Given the description of an element on the screen output the (x, y) to click on. 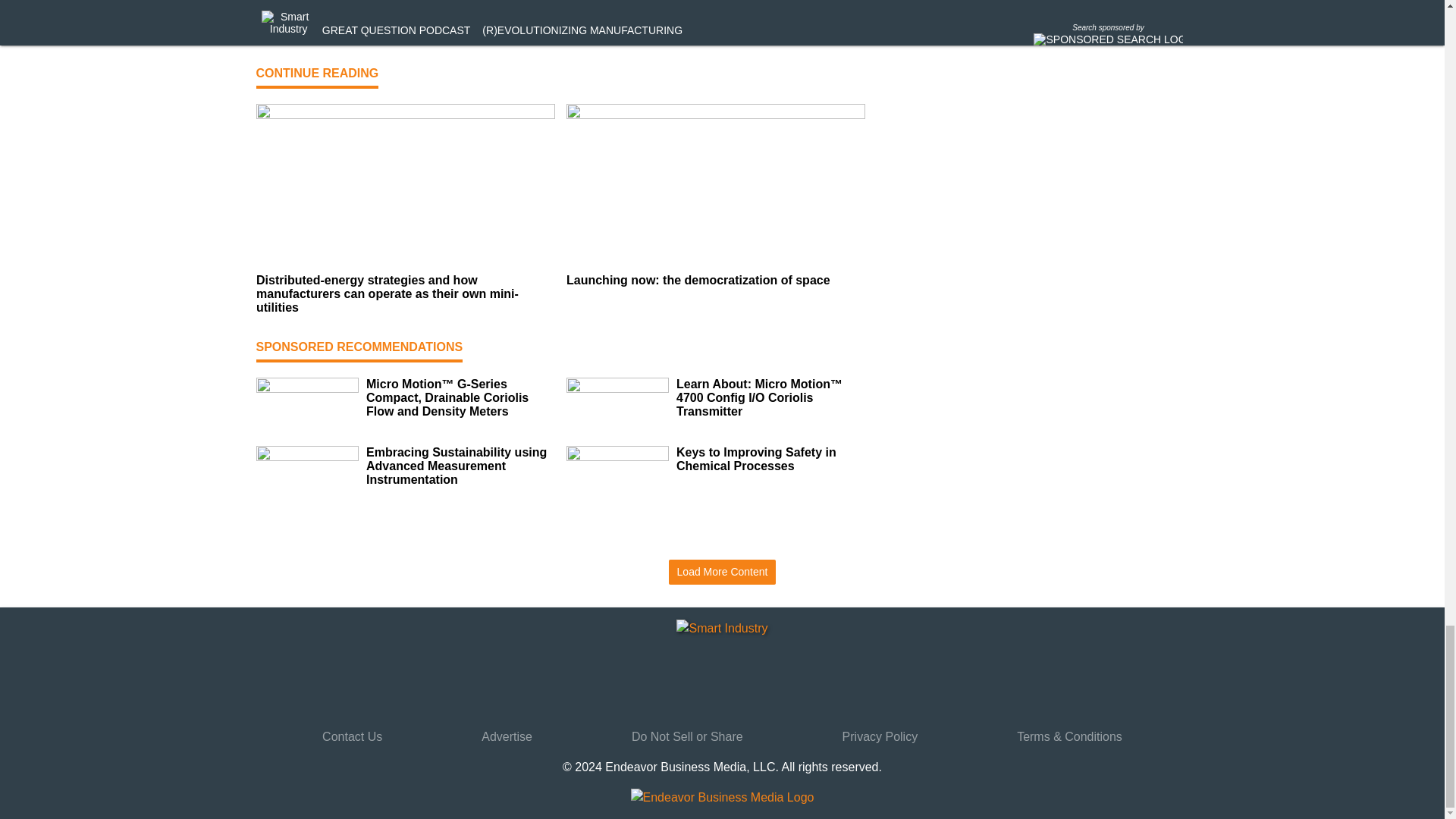
Launching now: the democratization of space (715, 280)
Keys to Improving Safety in Chemical Processes (770, 459)
